Given the description of an element on the screen output the (x, y) to click on. 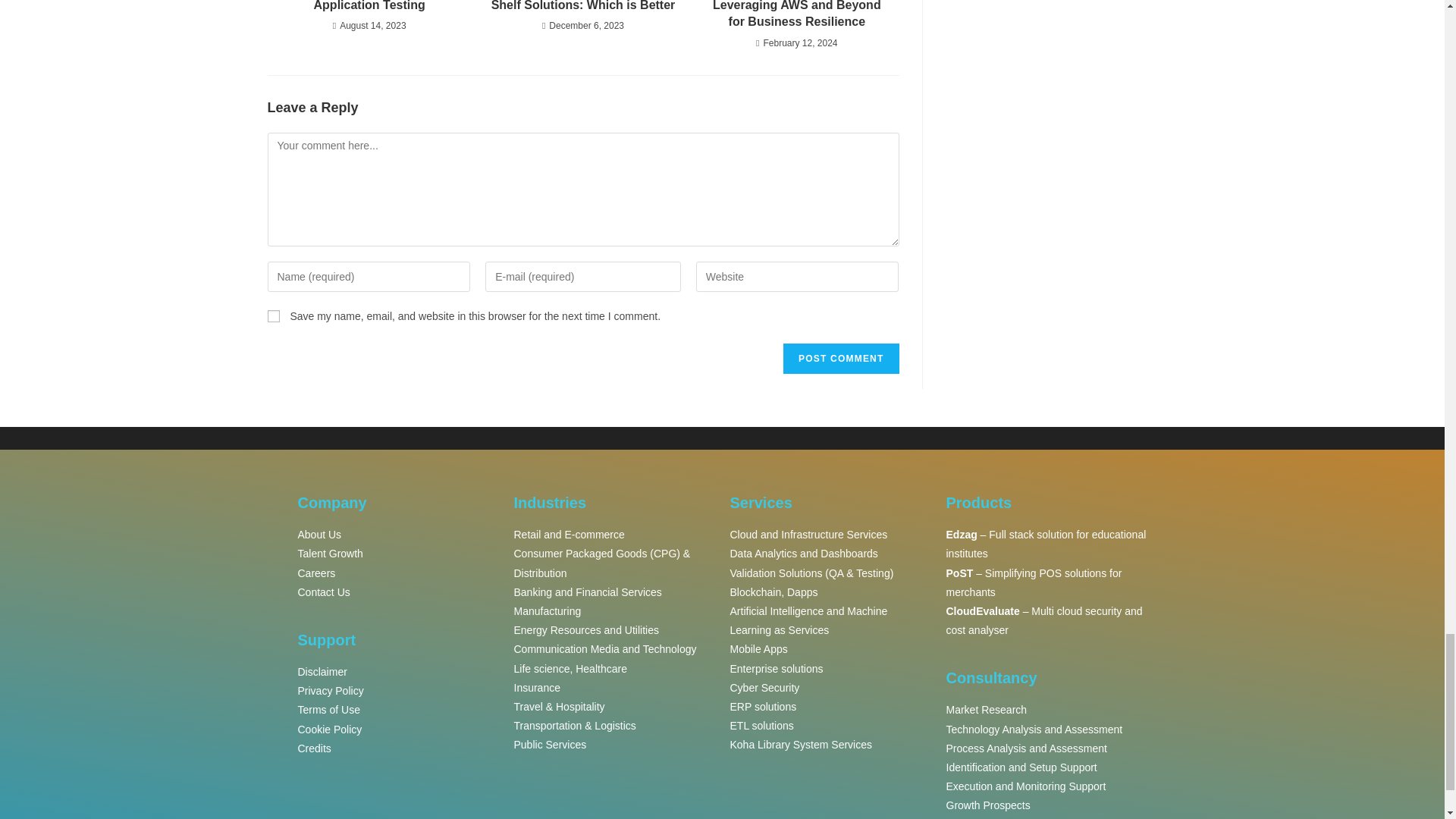
Post Comment (840, 358)
Best Practices for Mobile Application Testing (368, 7)
Post Comment (840, 358)
Custom Software Vs. Off-the-Shelf Solutions: Which is Better (582, 7)
yes (272, 316)
